Given the description of an element on the screen output the (x, y) to click on. 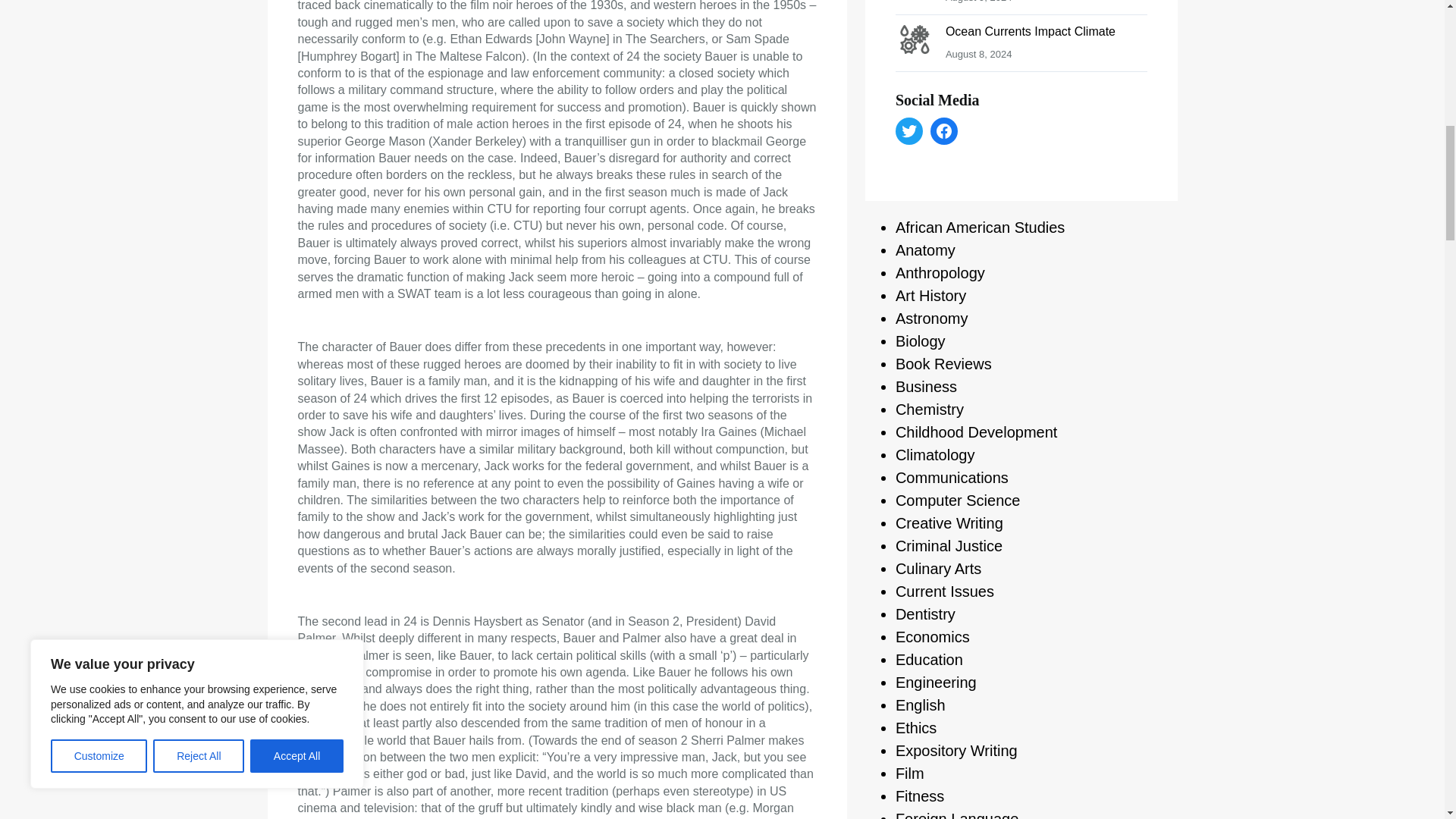
Anatomy (925, 249)
Twitter (909, 130)
Ocean Currents Impact Climate (1029, 31)
African American Studies (979, 227)
Facebook (944, 130)
Anthropology (940, 272)
